Given the description of an element on the screen output the (x, y) to click on. 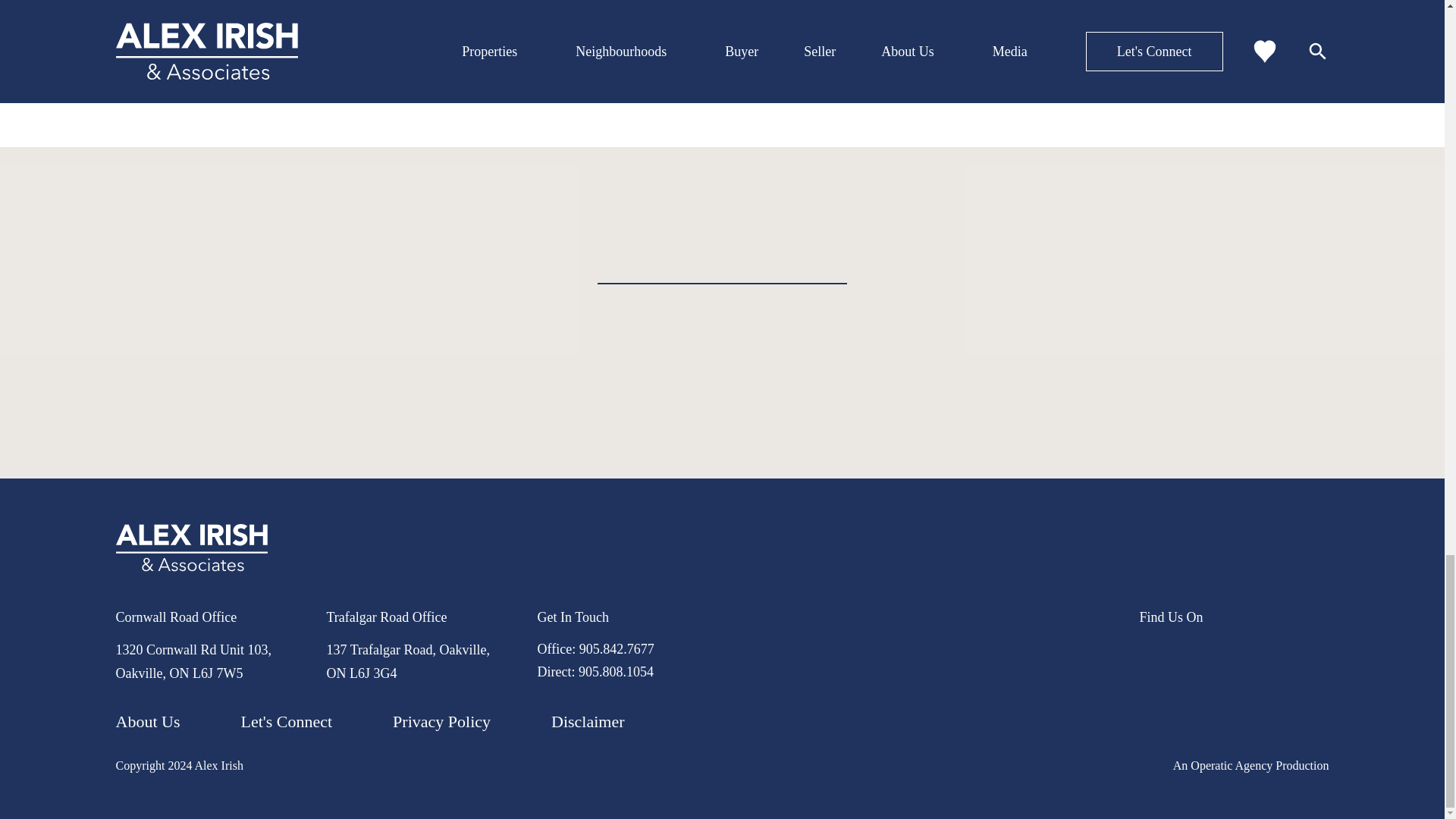
905.842.7677 (616, 648)
Privacy Policy (441, 721)
Disclaimer (587, 721)
905.808.1054 (615, 671)
137 Trafalgar Road, Oakville, ON L6J 3G4 (407, 661)
Let's Connect (285, 721)
An Operatic Agency Production (1251, 765)
About Us (147, 721)
Get In Touch (572, 616)
1320 Cornwall Rd Unit 103, Oakville, ON L6J 7W5 (192, 661)
